Given the description of an element on the screen output the (x, y) to click on. 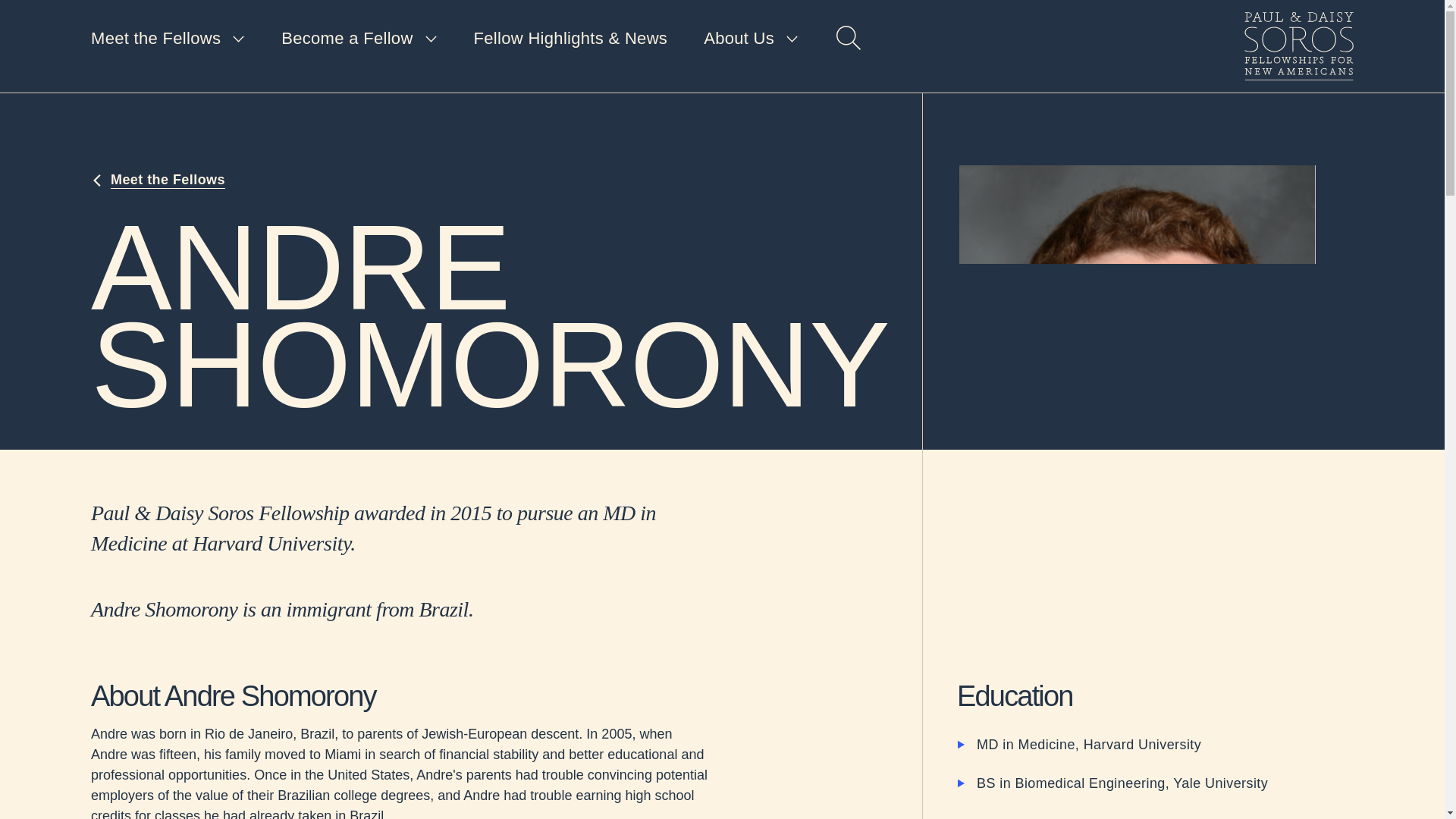
Meet the Fellows (157, 179)
Meet the Fellows (167, 38)
Toggle Sub-Menu (167, 38)
Become a Fellow (358, 38)
About Us (750, 38)
Toggle Sub-Menu (358, 38)
Toggle Sub-Menu (750, 38)
